Given the description of an element on the screen output the (x, y) to click on. 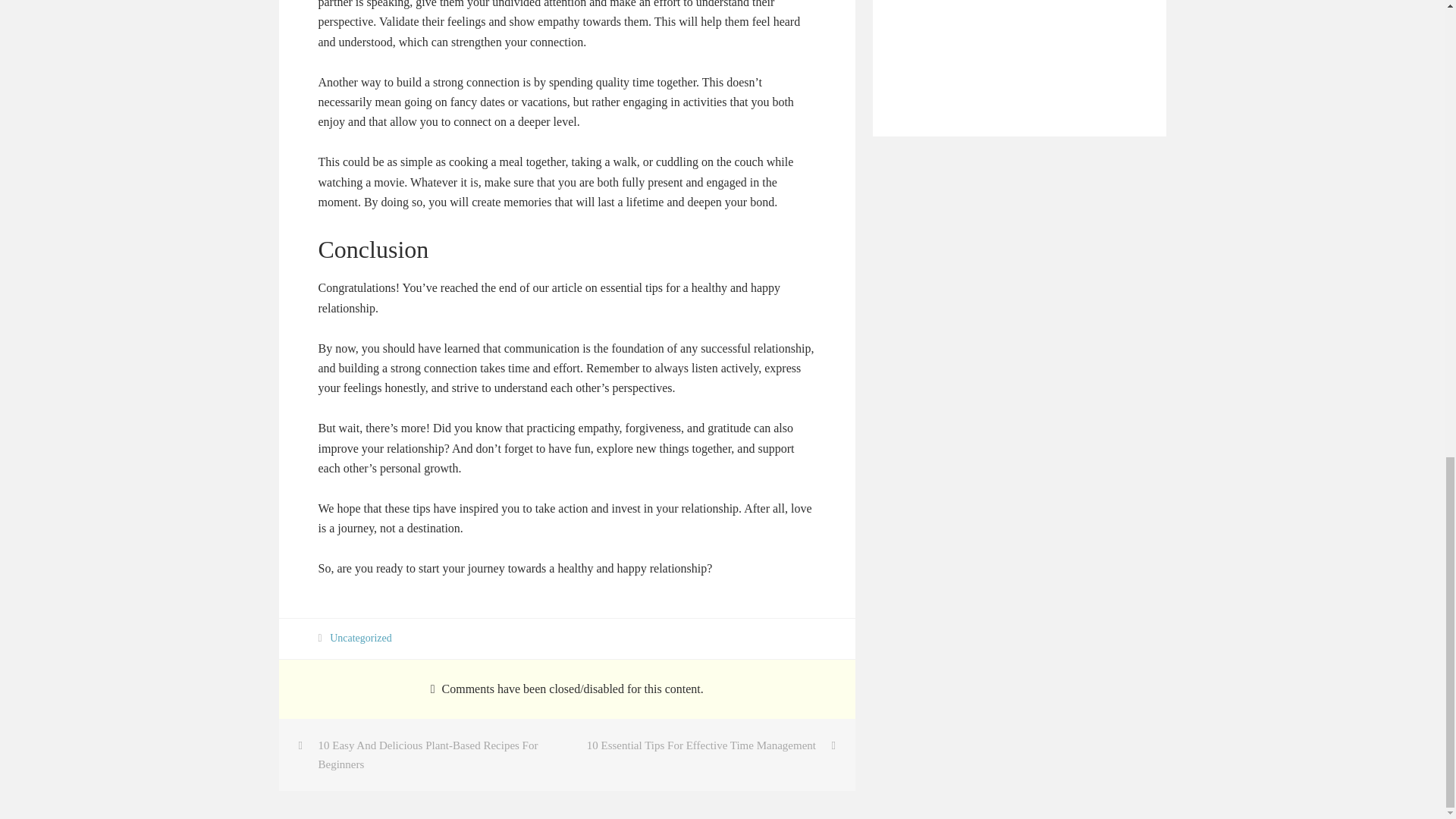
10 Easy And Delicious Plant-Based Recipes For Beginners (423, 755)
Uncategorized (360, 637)
10 Essential Tips For Effective Time Management (711, 745)
